Given the description of an element on the screen output the (x, y) to click on. 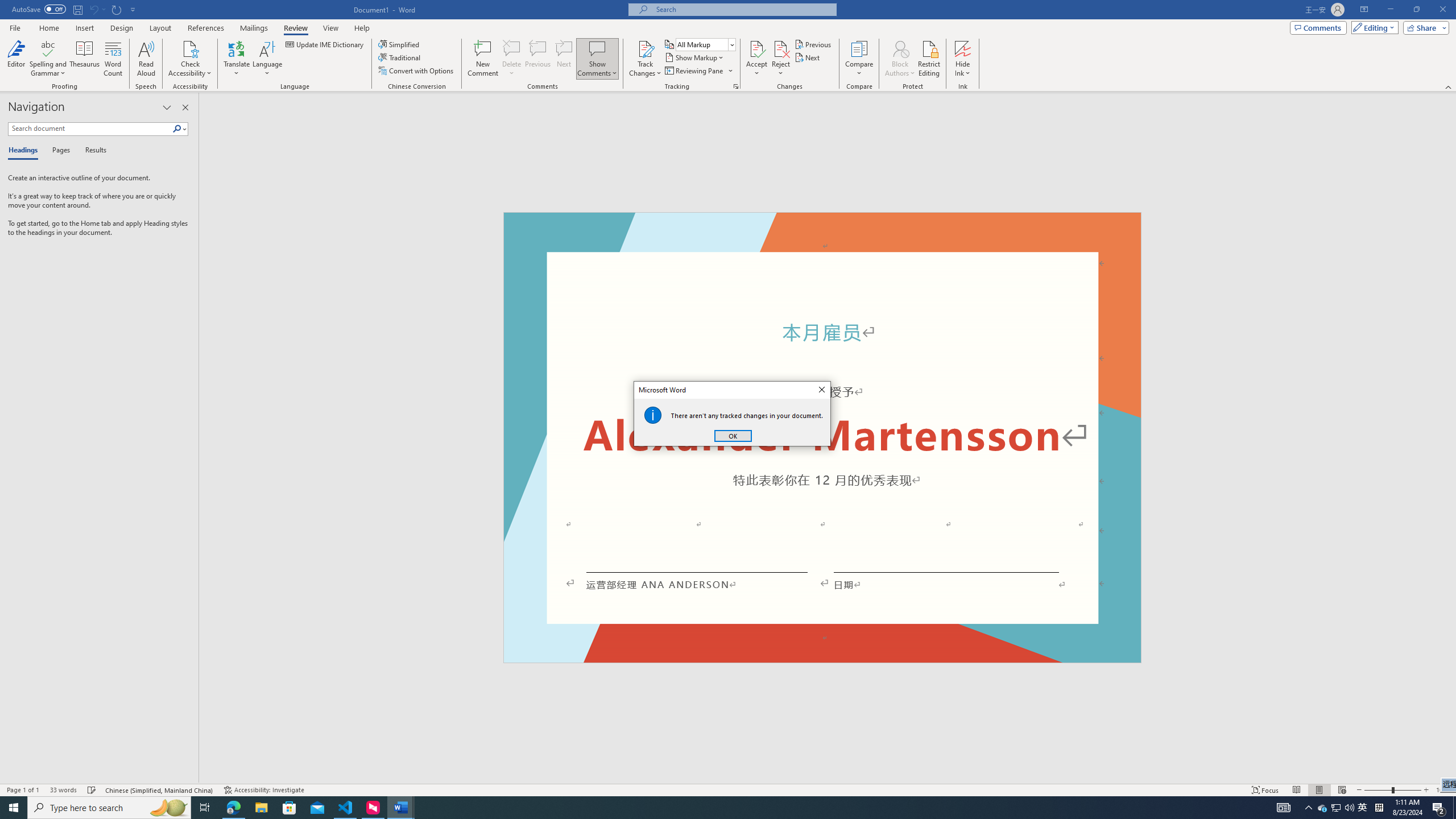
Search document (89, 128)
Results (91, 150)
Class: Static (652, 415)
Update IME Dictionary... (324, 44)
Can't Undo (92, 9)
Word Count (113, 58)
File Explorer (261, 807)
Zoom 100% (1443, 790)
Show Markup (695, 56)
